Given the description of an element on the screen output the (x, y) to click on. 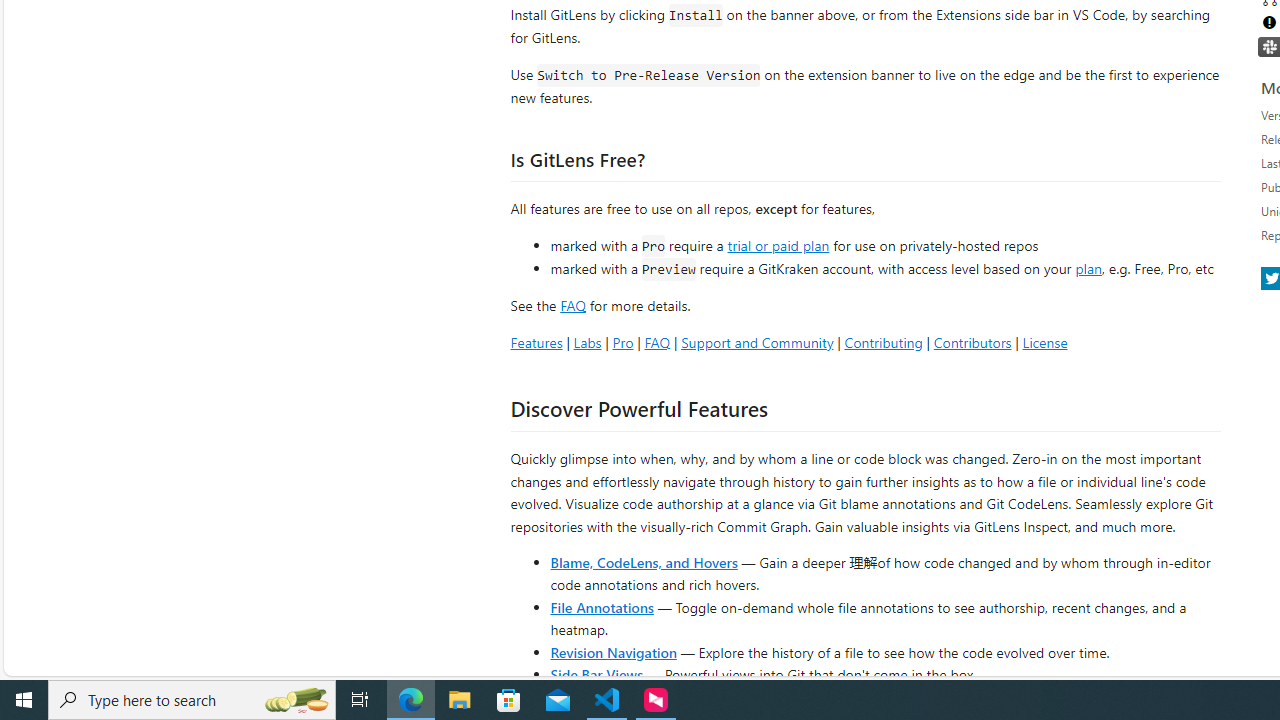
Side Bar Views (596, 673)
trial or paid plan (778, 244)
License (1044, 341)
Contributors (972, 341)
